Given the description of an element on the screen output the (x, y) to click on. 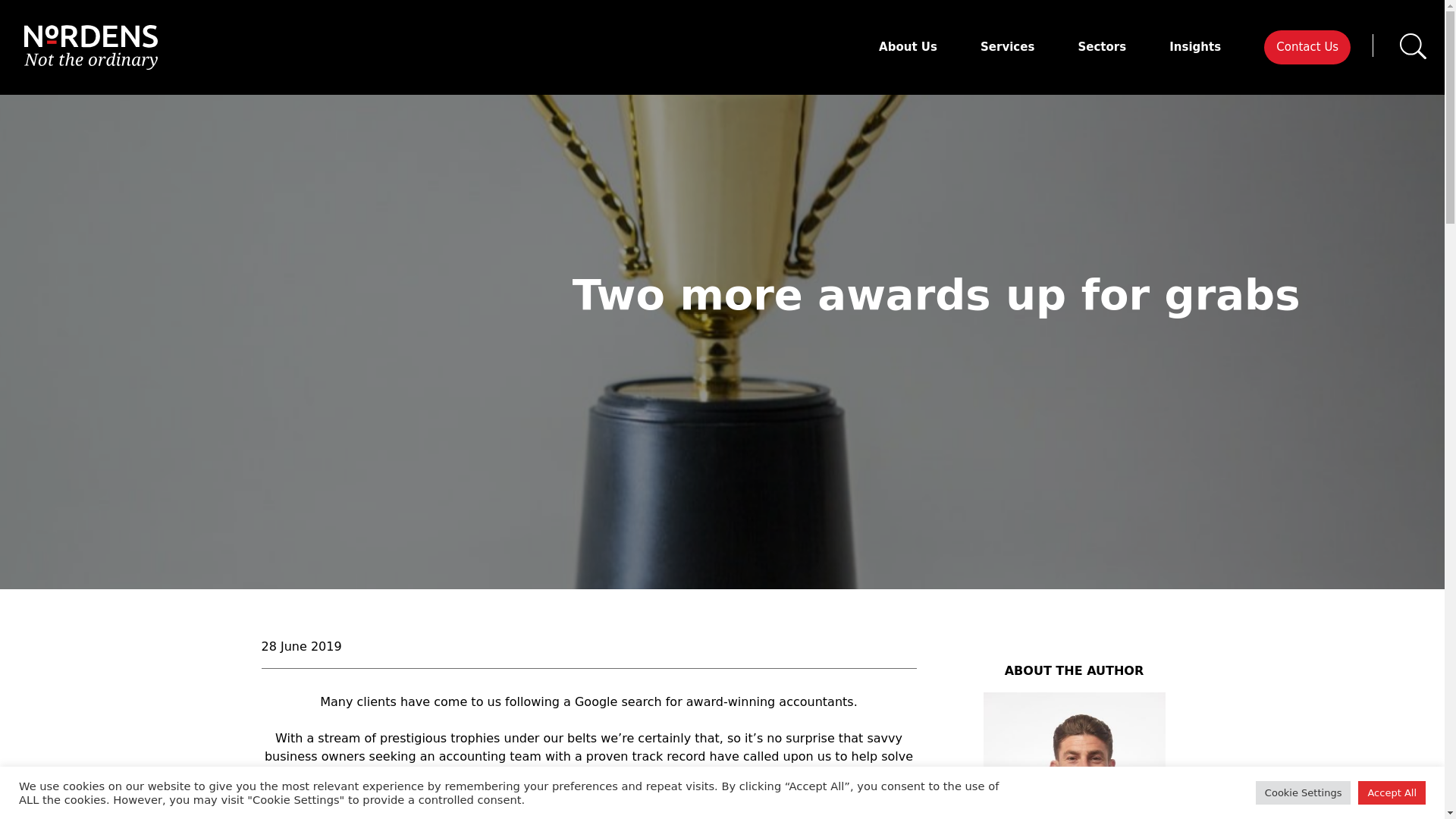
Contact Us (1307, 47)
Services (1006, 47)
Sectors (1101, 47)
About Us (908, 47)
Insights (1195, 47)
